Given the description of an element on the screen output the (x, y) to click on. 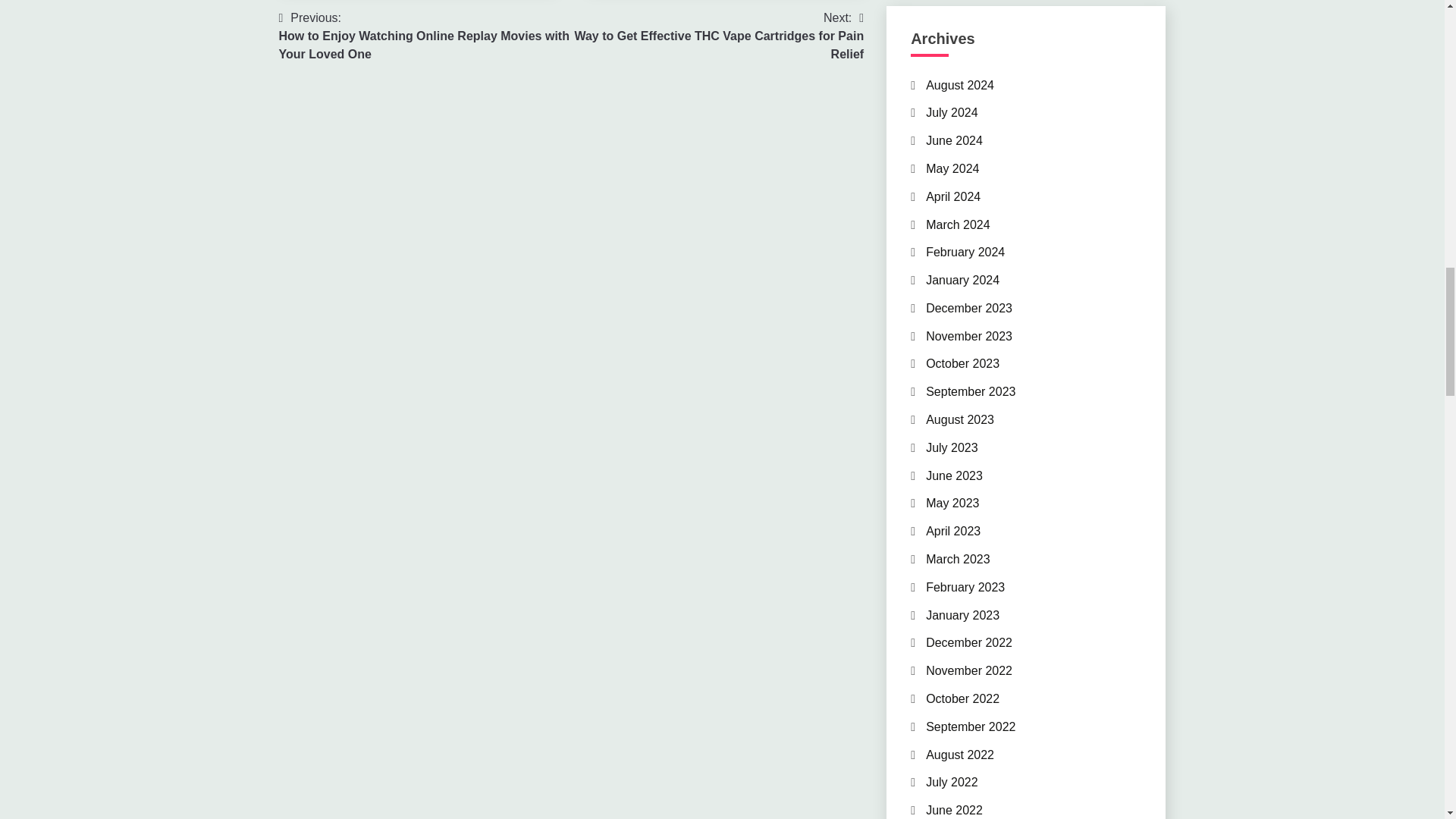
July 2024 (952, 112)
August 2024 (960, 84)
